Given the description of an element on the screen output the (x, y) to click on. 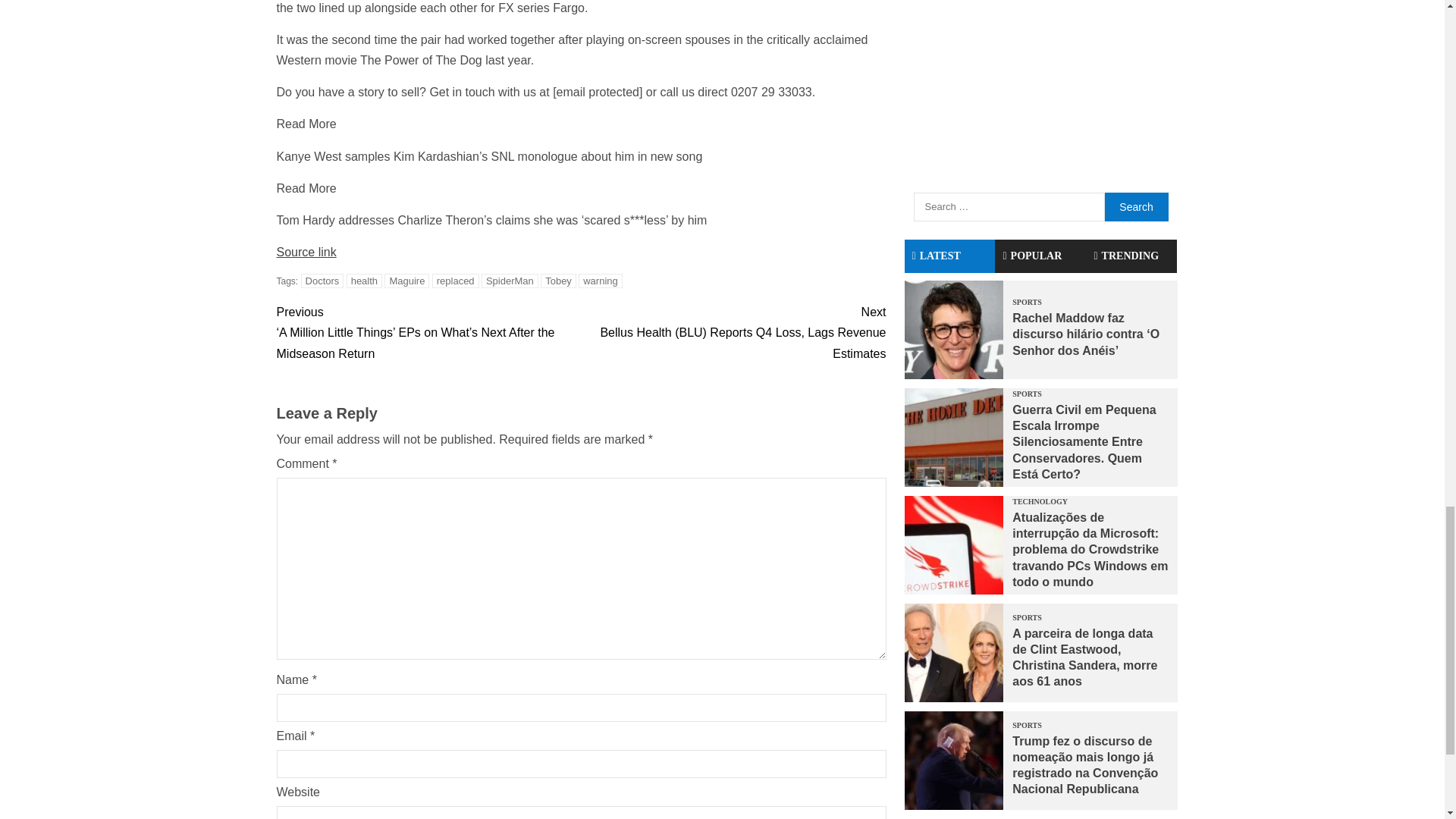
Source link (306, 251)
health (363, 280)
Doctors (322, 280)
Maguire (406, 280)
Tobey (558, 280)
replaced (455, 280)
warning (600, 280)
SpiderMan (509, 280)
